Given the description of an element on the screen output the (x, y) to click on. 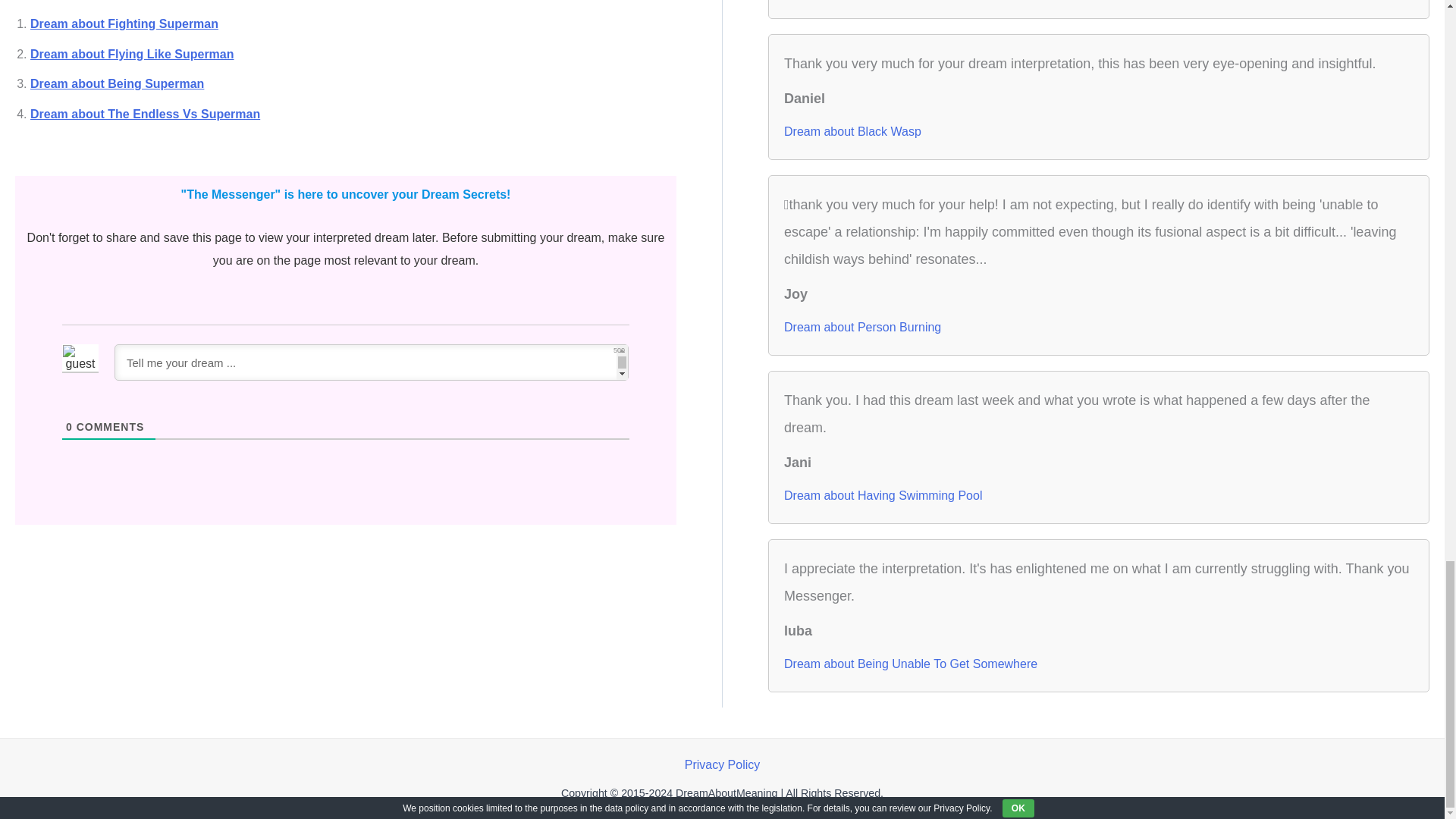
Dream about The Endless Vs Superman (145, 113)
Dream about Being Unable To Get Somewhere (910, 663)
Dream about Person Burning (862, 327)
Dream about Flying Like Superman (132, 53)
Dream about Having Swimming Pool (882, 495)
Dream about Black Wasp (852, 131)
Dream about Flying Like Superman (132, 53)
Dream about Being Superman (116, 83)
Dream about The Endless Vs Superman (145, 113)
Dream about Fighting Superman (124, 23)
